Given the description of an element on the screen output the (x, y) to click on. 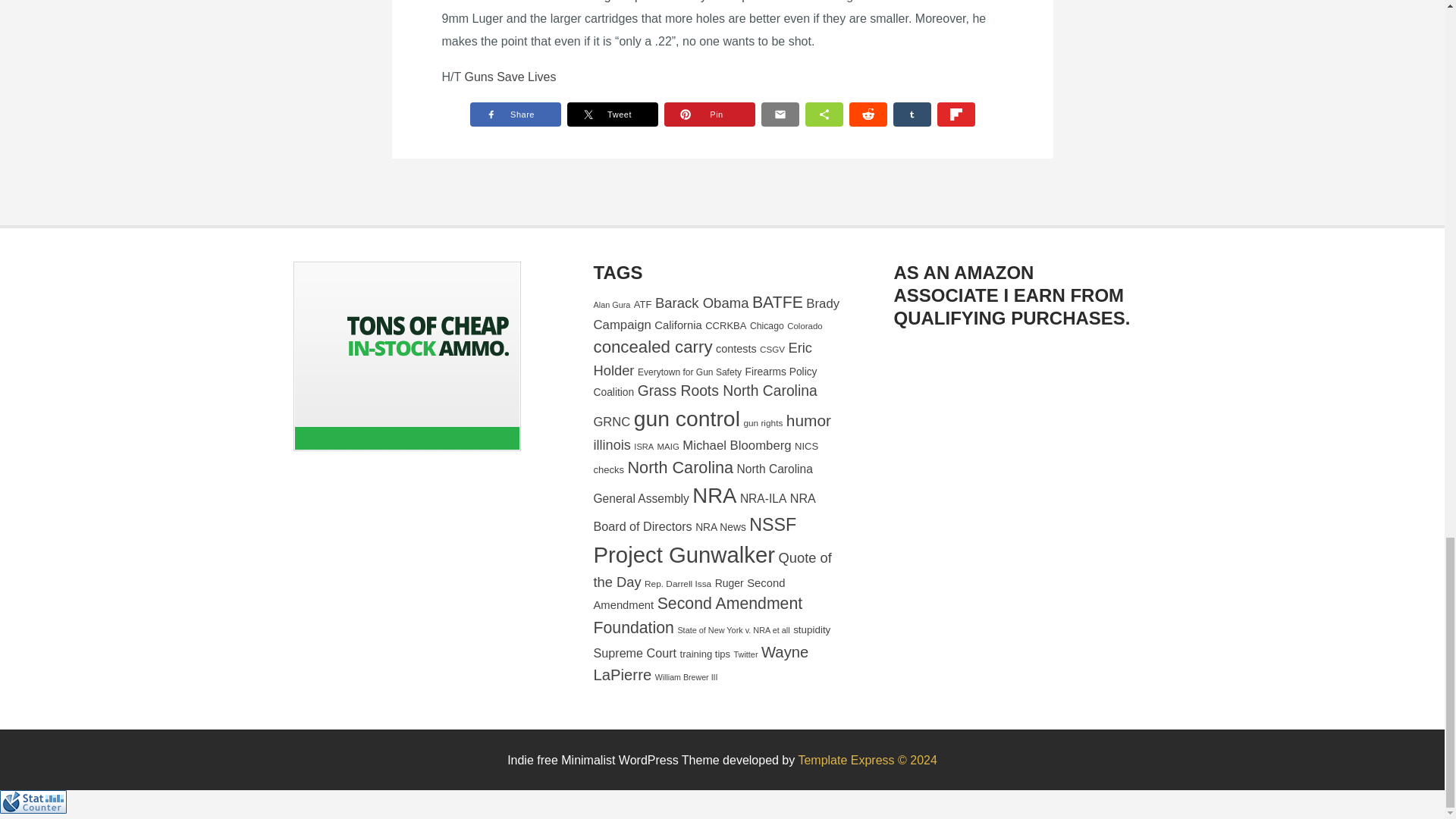
Firearms Policy Coalition (704, 381)
illinois (611, 444)
gun rights (762, 422)
contests (736, 348)
Grass Roots North Carolina (726, 390)
Everytown for Gun Safety (689, 371)
Chicago (766, 326)
Brady Campaign (716, 314)
concealed carry (651, 346)
Cheap Bulk ammo  (405, 356)
